Given the description of an element on the screen output the (x, y) to click on. 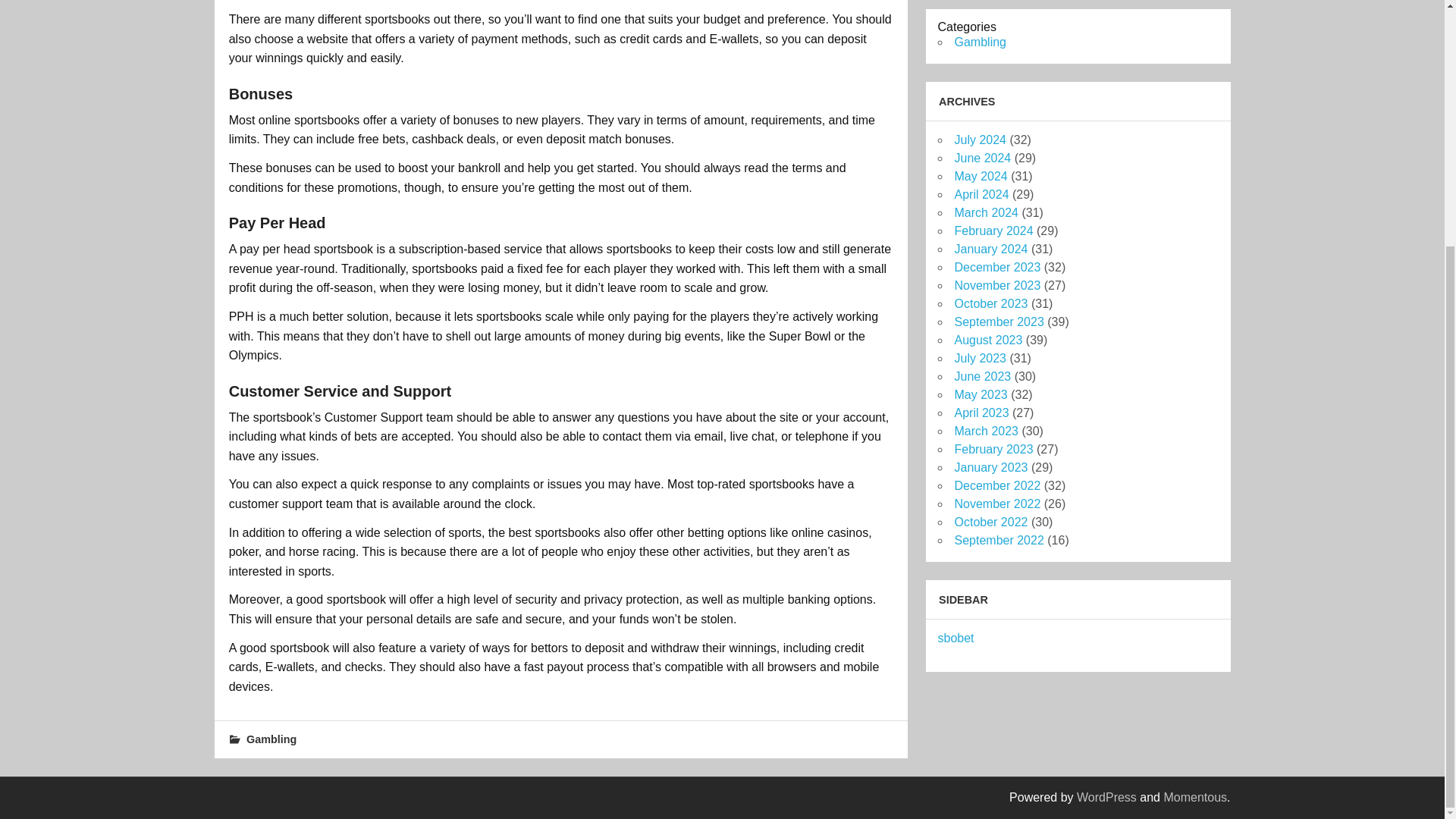
August 2023 (987, 339)
October 2023 (990, 303)
May 2023 (980, 394)
July 2024 (979, 139)
Gambling (979, 42)
Gambling (271, 739)
December 2022 (997, 485)
July 2023 (979, 358)
Momentous WordPress Theme (1195, 797)
September 2023 (998, 321)
December 2023 (997, 267)
November 2022 (997, 503)
May 2024 (980, 175)
March 2023 (985, 431)
Momentous (1195, 797)
